Given the description of an element on the screen output the (x, y) to click on. 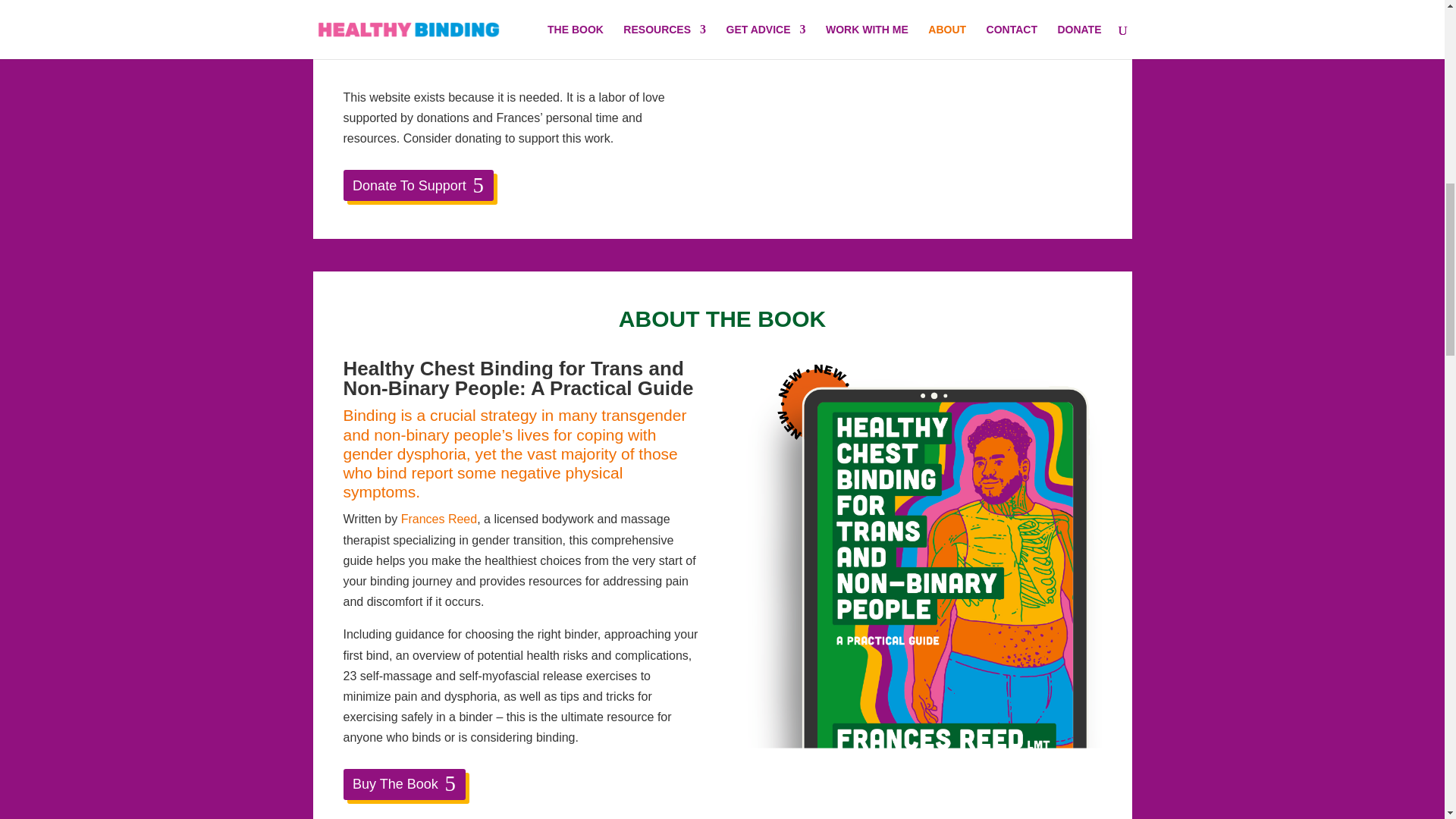
Buy The Book (403, 784)
Donate To Support (417, 184)
Frances Reed (439, 518)
